Given the description of an element on the screen output the (x, y) to click on. 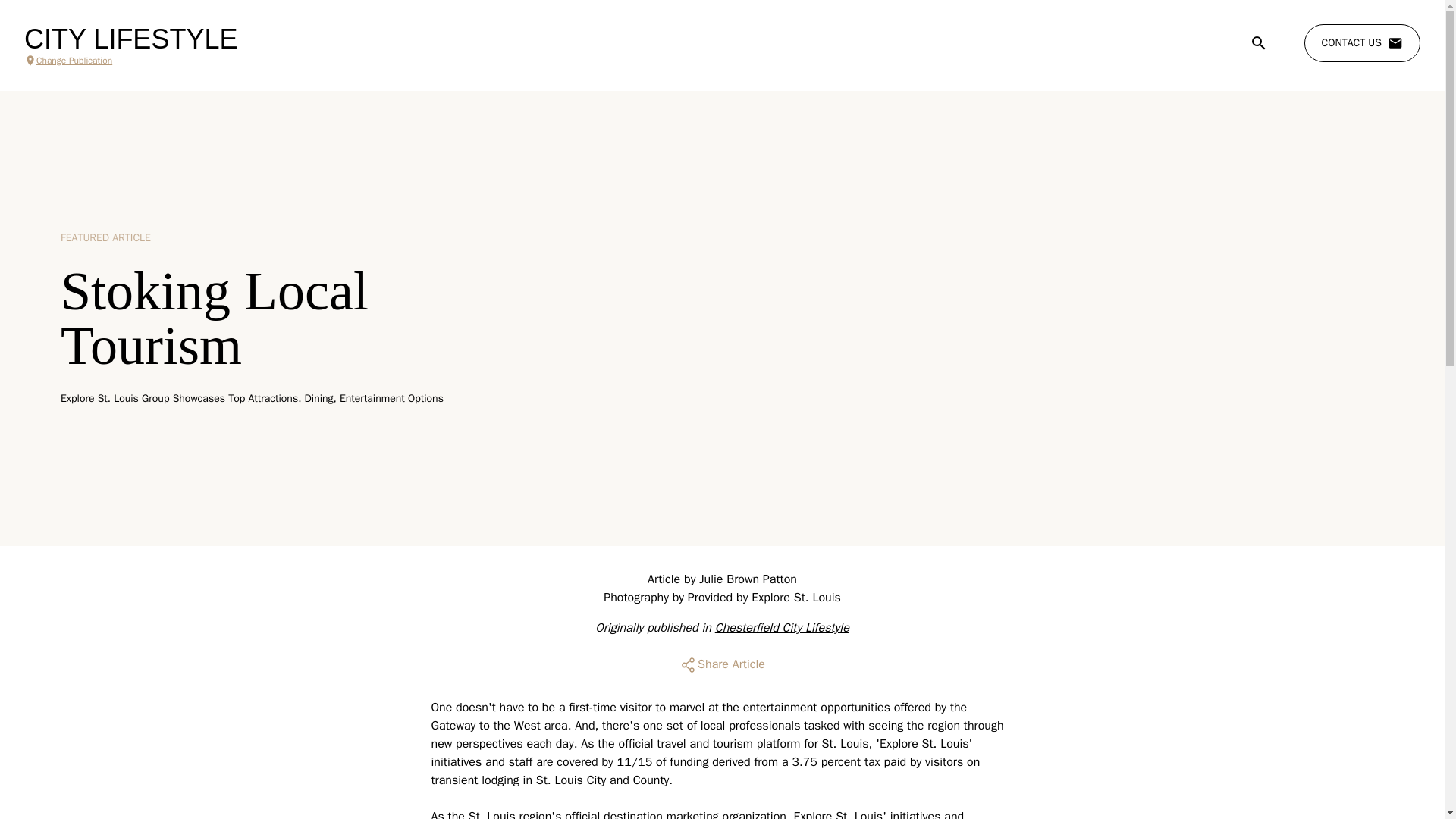
Share Article (722, 664)
CITY LIFESTYLE (130, 39)
Change Publication (130, 60)
Chesterfield City Lifestyle (781, 627)
CONTACT US (1362, 43)
